Given the description of an element on the screen output the (x, y) to click on. 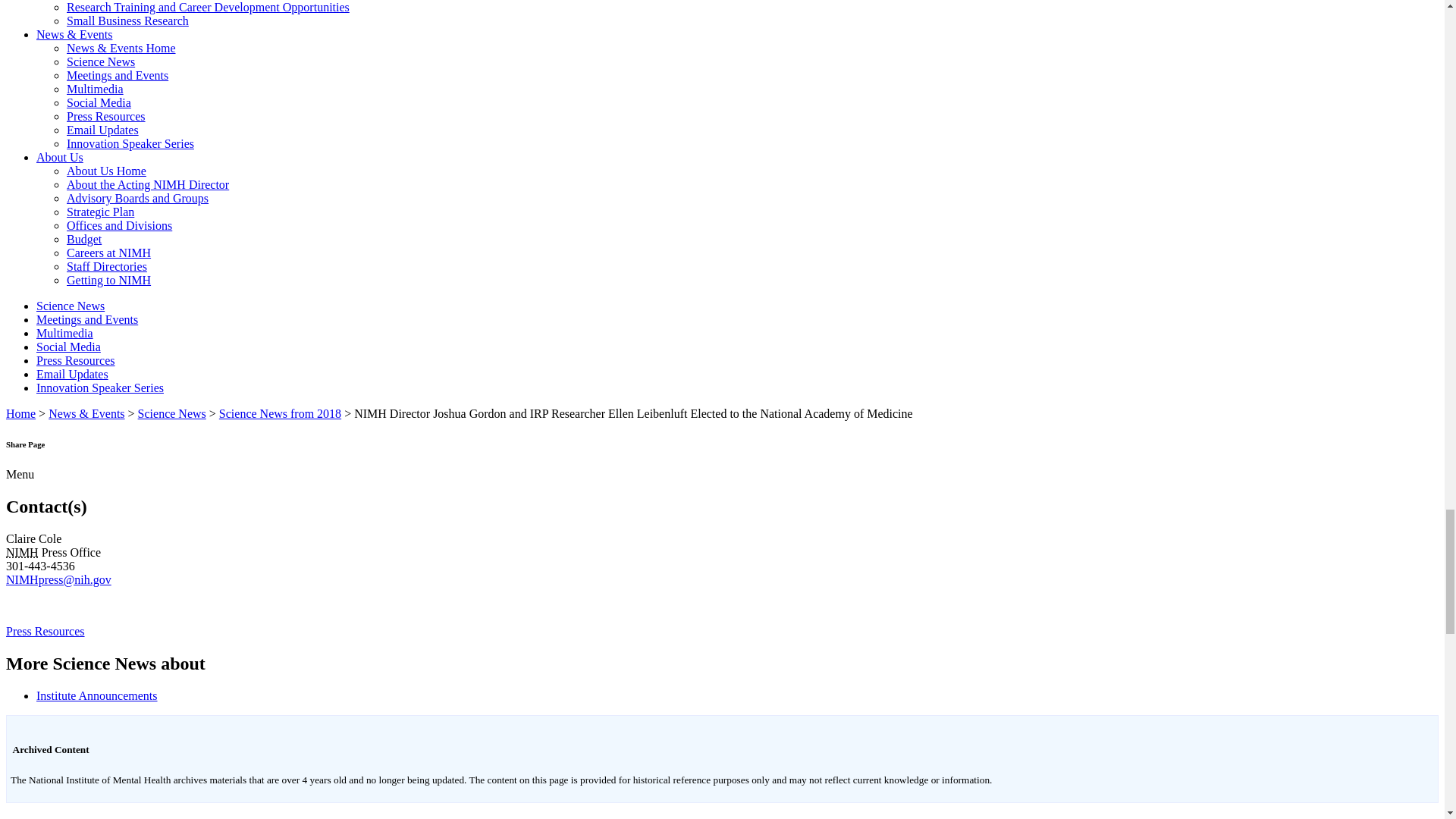
National Institute of Mental Health (22, 552)
